Given the description of an element on the screen output the (x, y) to click on. 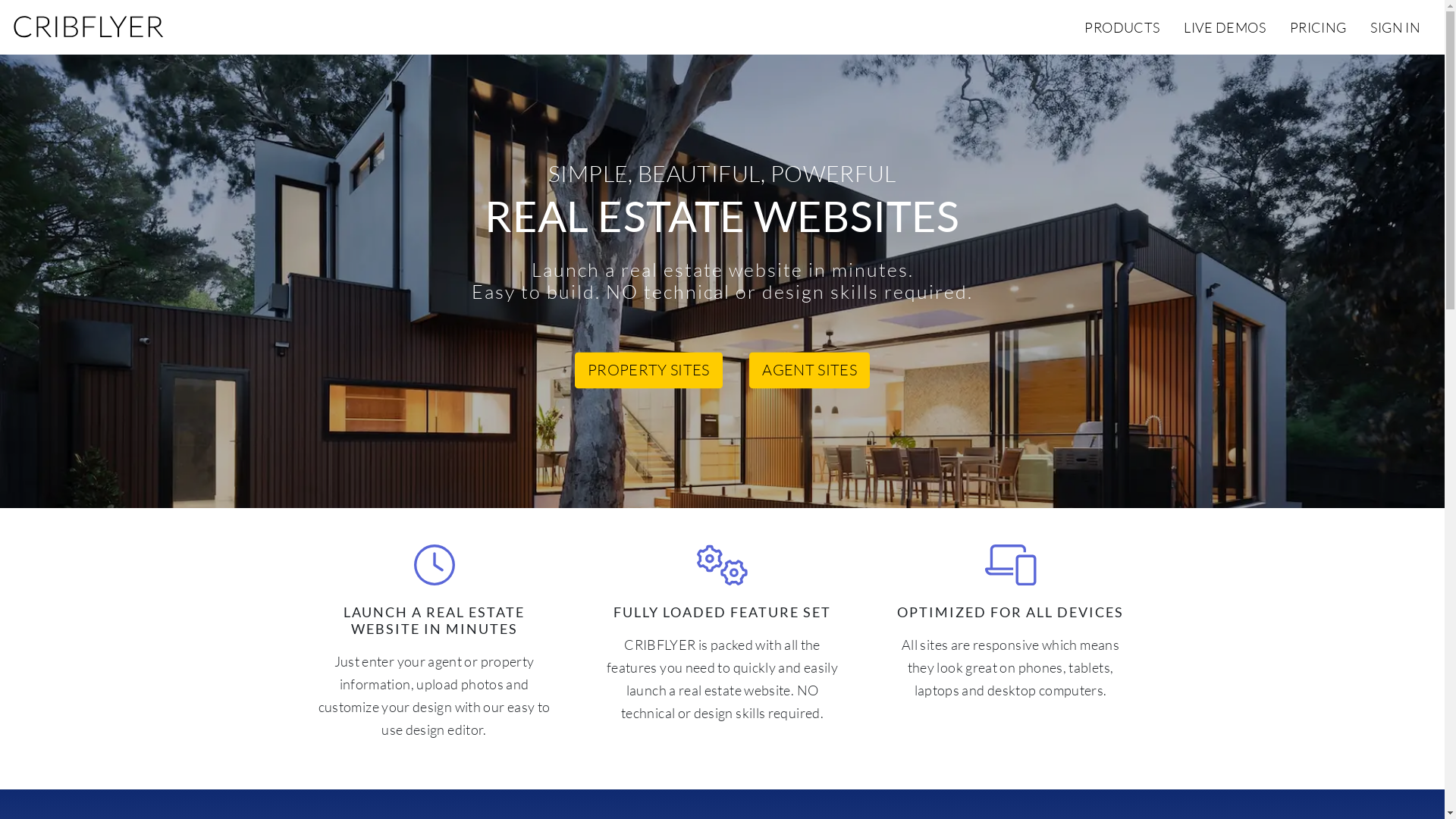
AGENT SITES Element type: text (809, 370)
PRODUCTS Element type: text (1121, 27)
PROPERTY SITES Element type: text (648, 370)
PRICING Element type: text (1317, 27)
LIVE DEMOS Element type: text (1224, 27)
SIGN IN Element type: text (1395, 27)
